Given the description of an element on the screen output the (x, y) to click on. 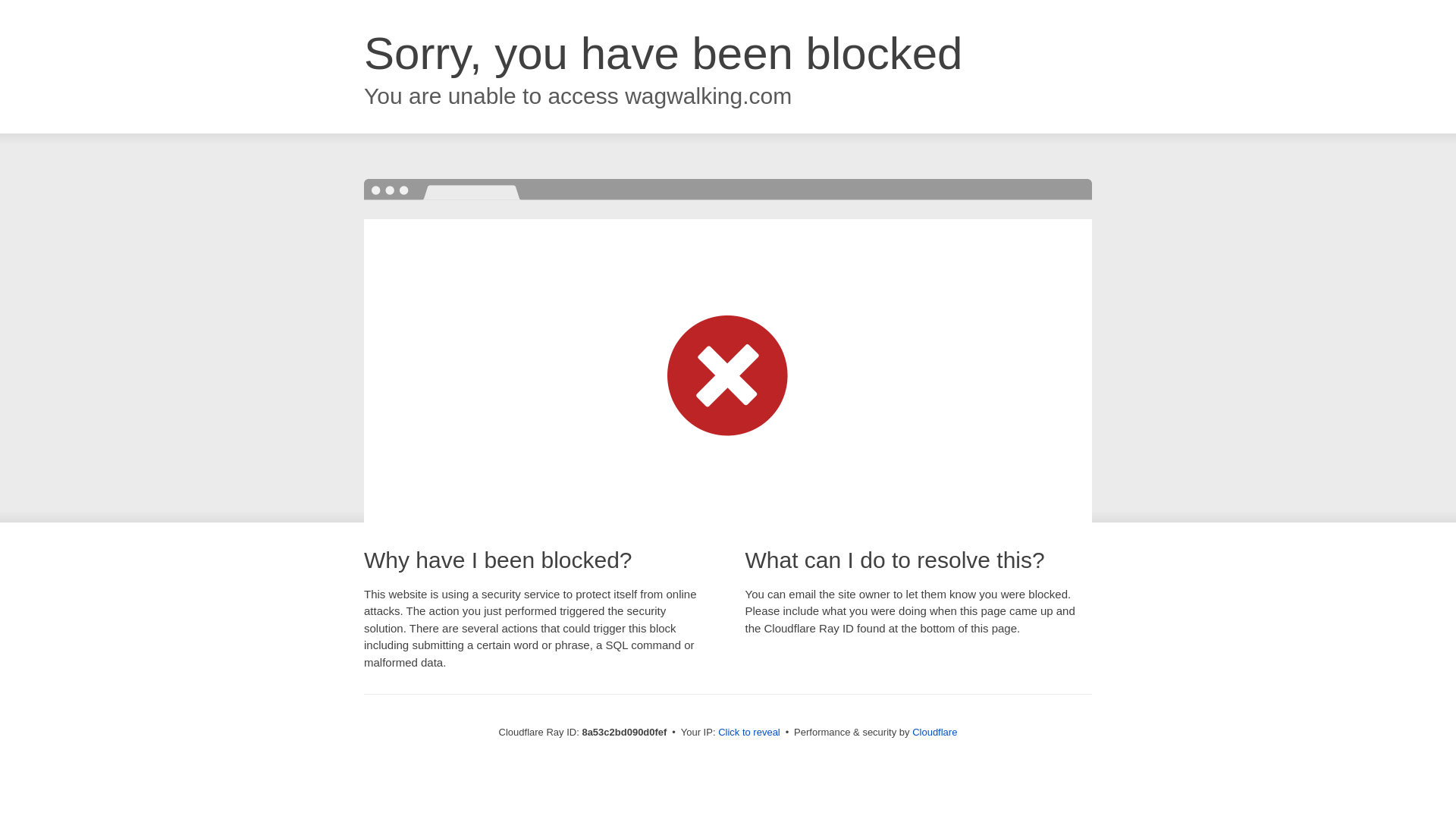
Click to reveal (748, 732)
Cloudflare (934, 731)
